Given the description of an element on the screen output the (x, y) to click on. 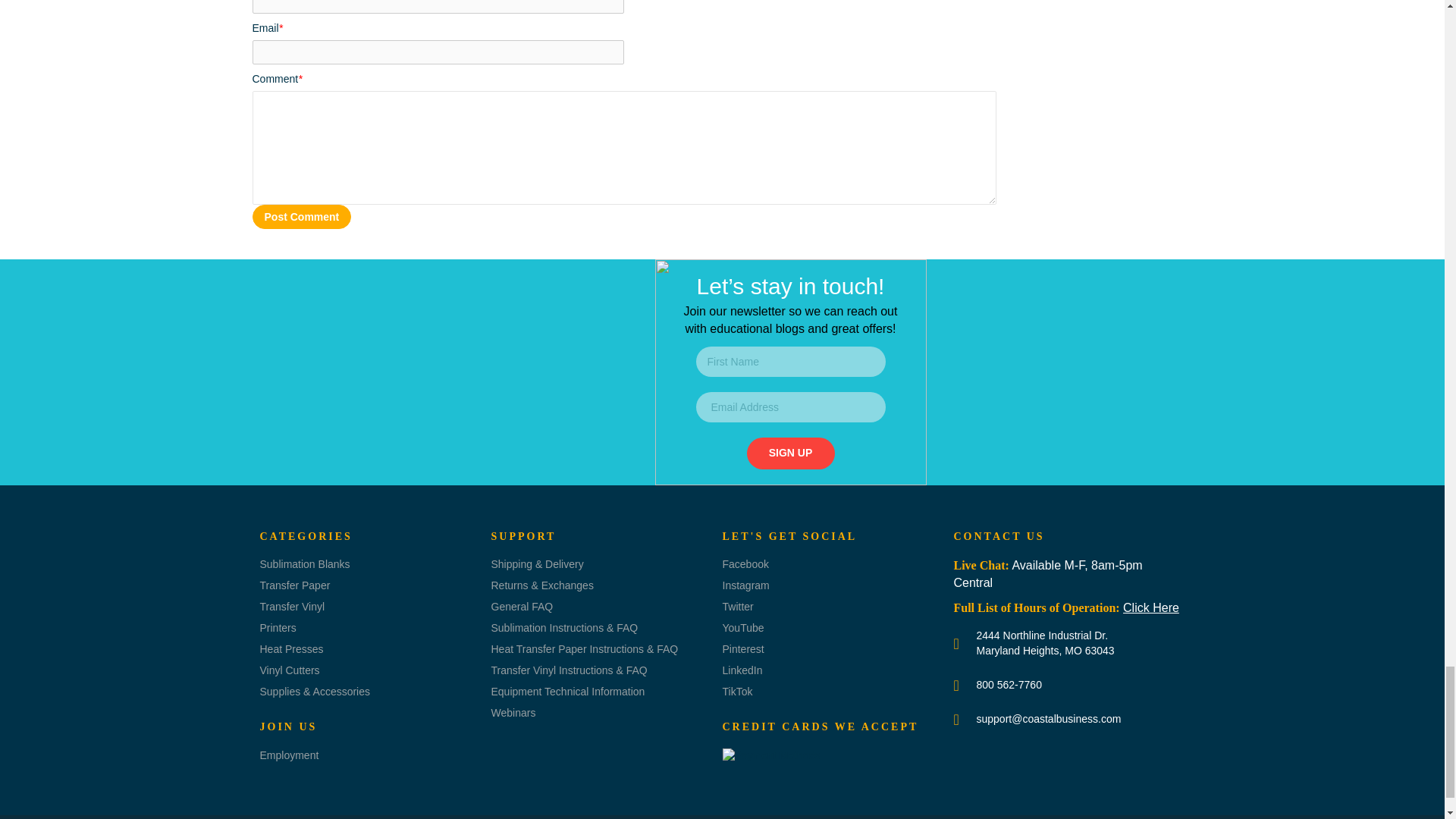
Post Comment (300, 216)
Comment (623, 147)
Email (437, 52)
Name (437, 6)
Sign Up (789, 453)
Post Comment (300, 216)
